Given the description of an element on the screen output the (x, y) to click on. 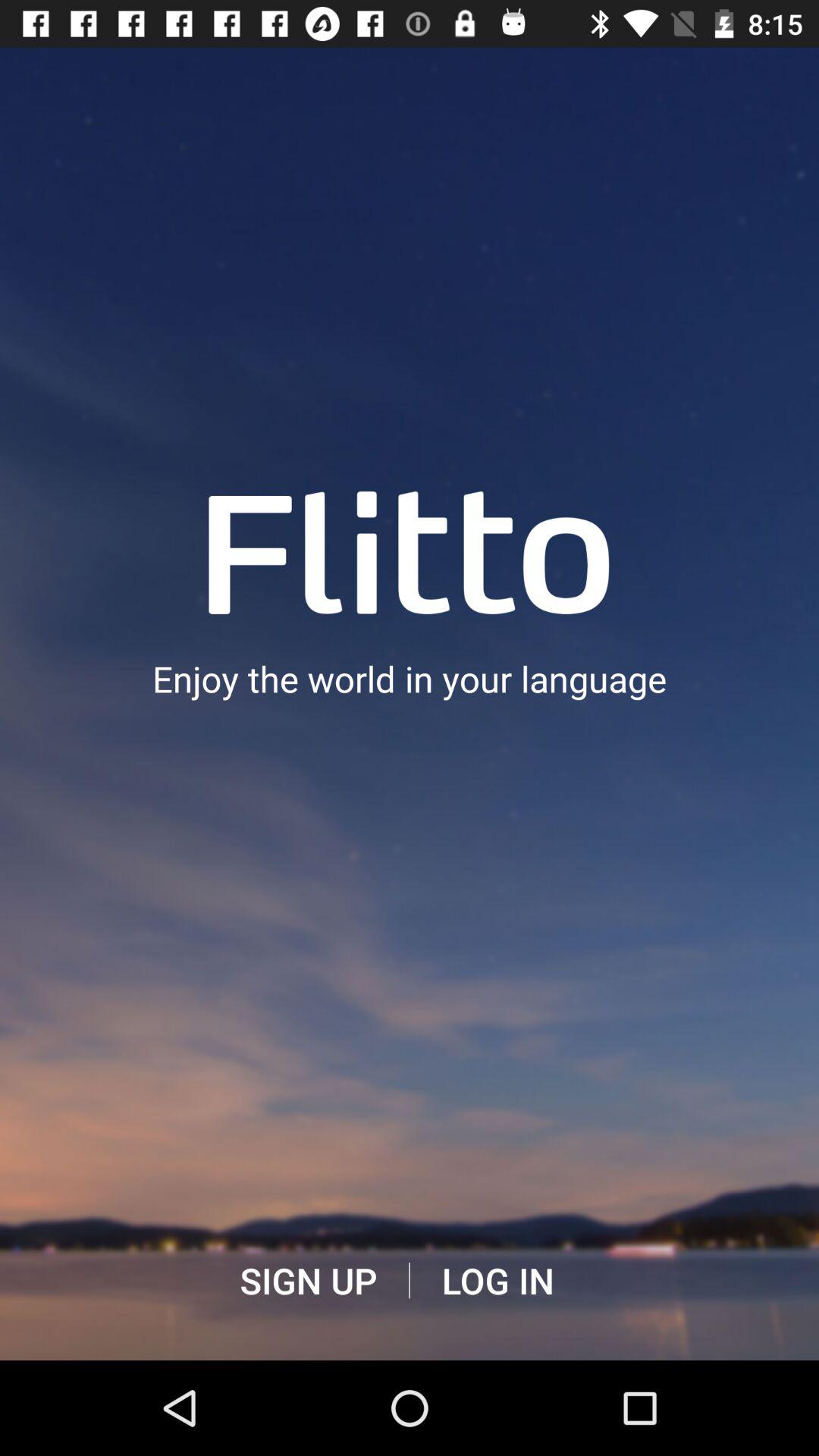
flip to sign up (308, 1280)
